Given the description of an element on the screen output the (x, y) to click on. 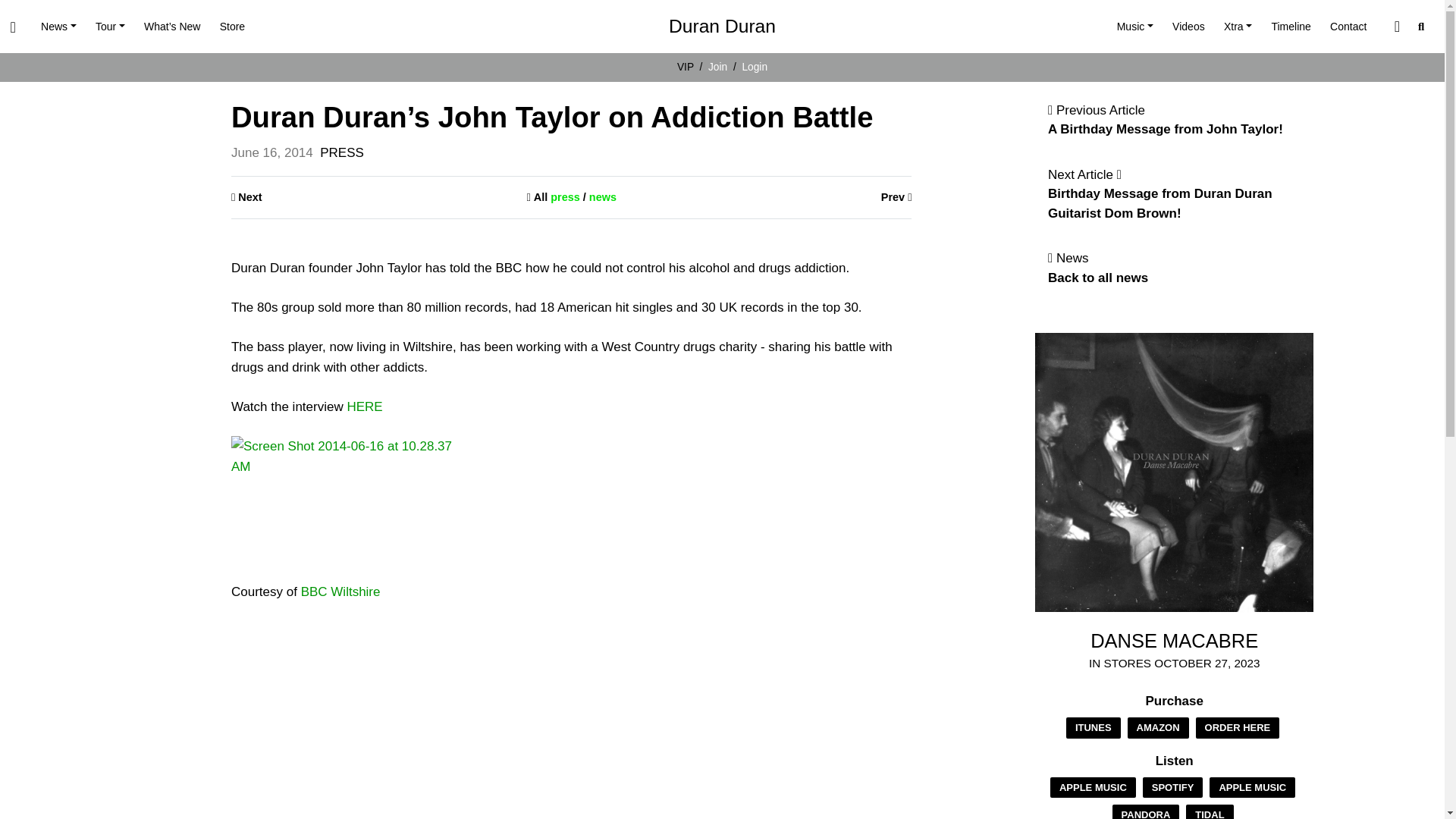
News (57, 26)
Tour Dates (109, 26)
Music (1133, 26)
Duran Duran (722, 26)
Tour (109, 26)
Duran Duran Store (231, 26)
News (57, 26)
Store (231, 26)
